Given the description of an element on the screen output the (x, y) to click on. 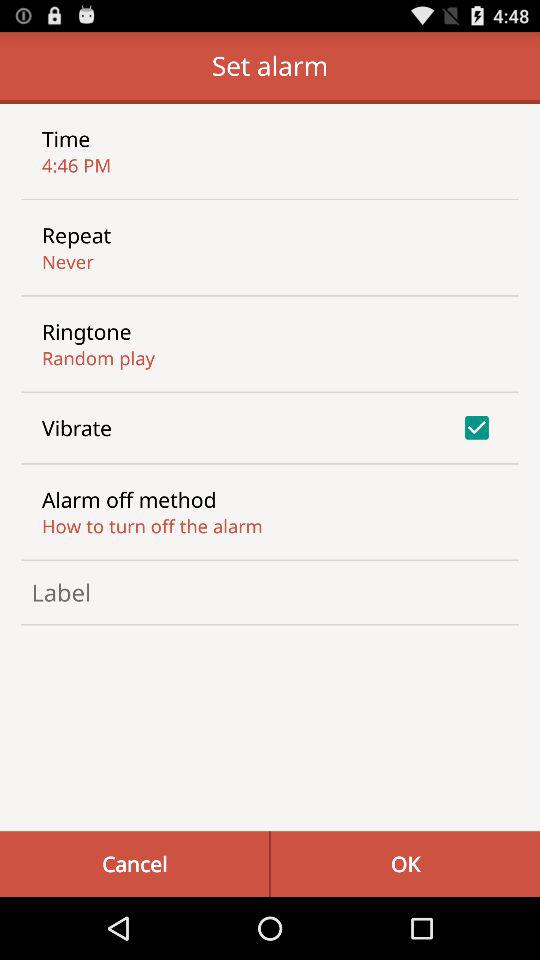
swipe to the repeat (76, 235)
